Given the description of an element on the screen output the (x, y) to click on. 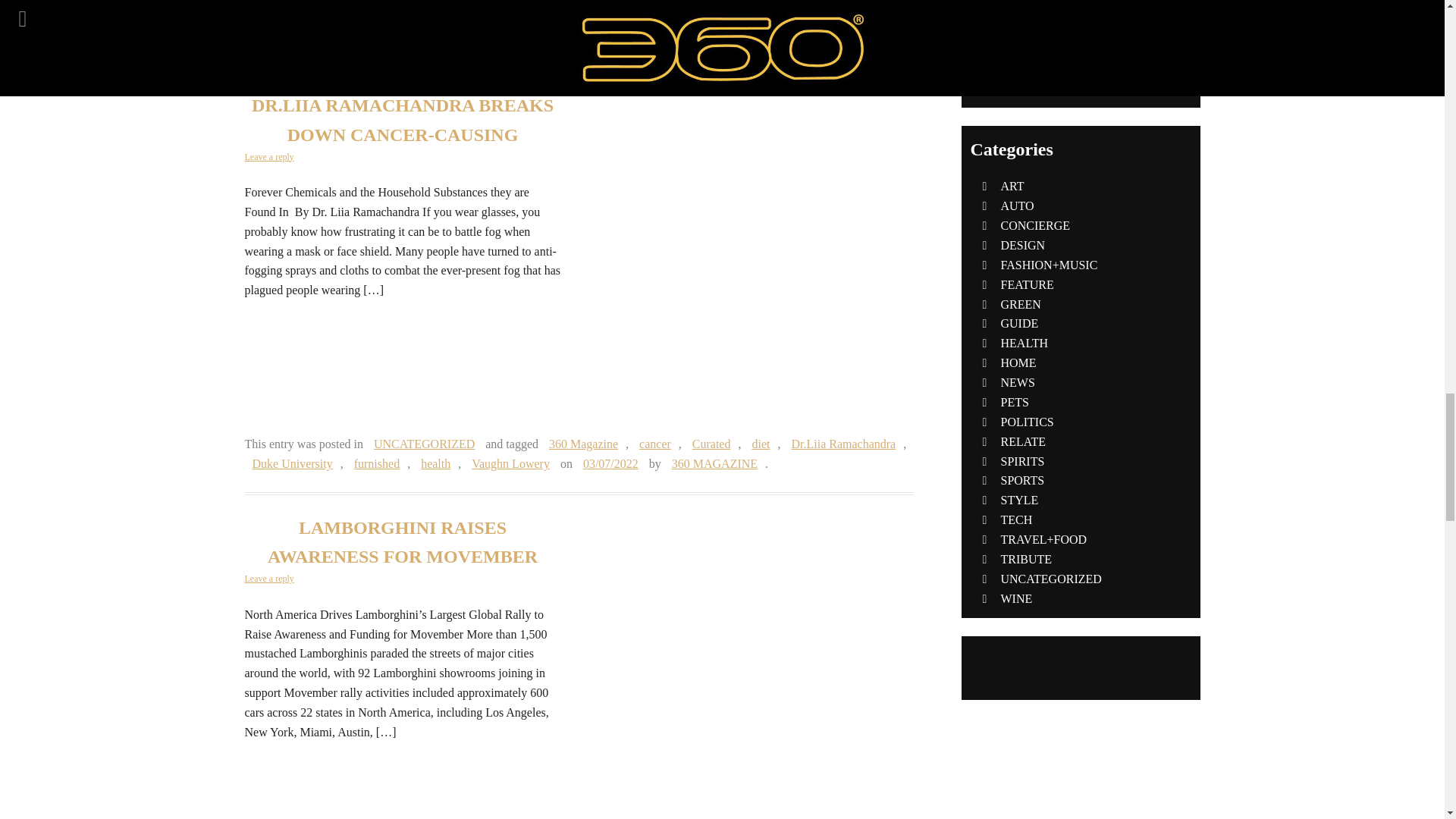
View all posts by McKinley Franklin (847, 41)
View all posts by 360 MAGAZINE (714, 463)
11:41 am (739, 41)
2:00 pm (610, 463)
